Given the description of an element on the screen output the (x, y) to click on. 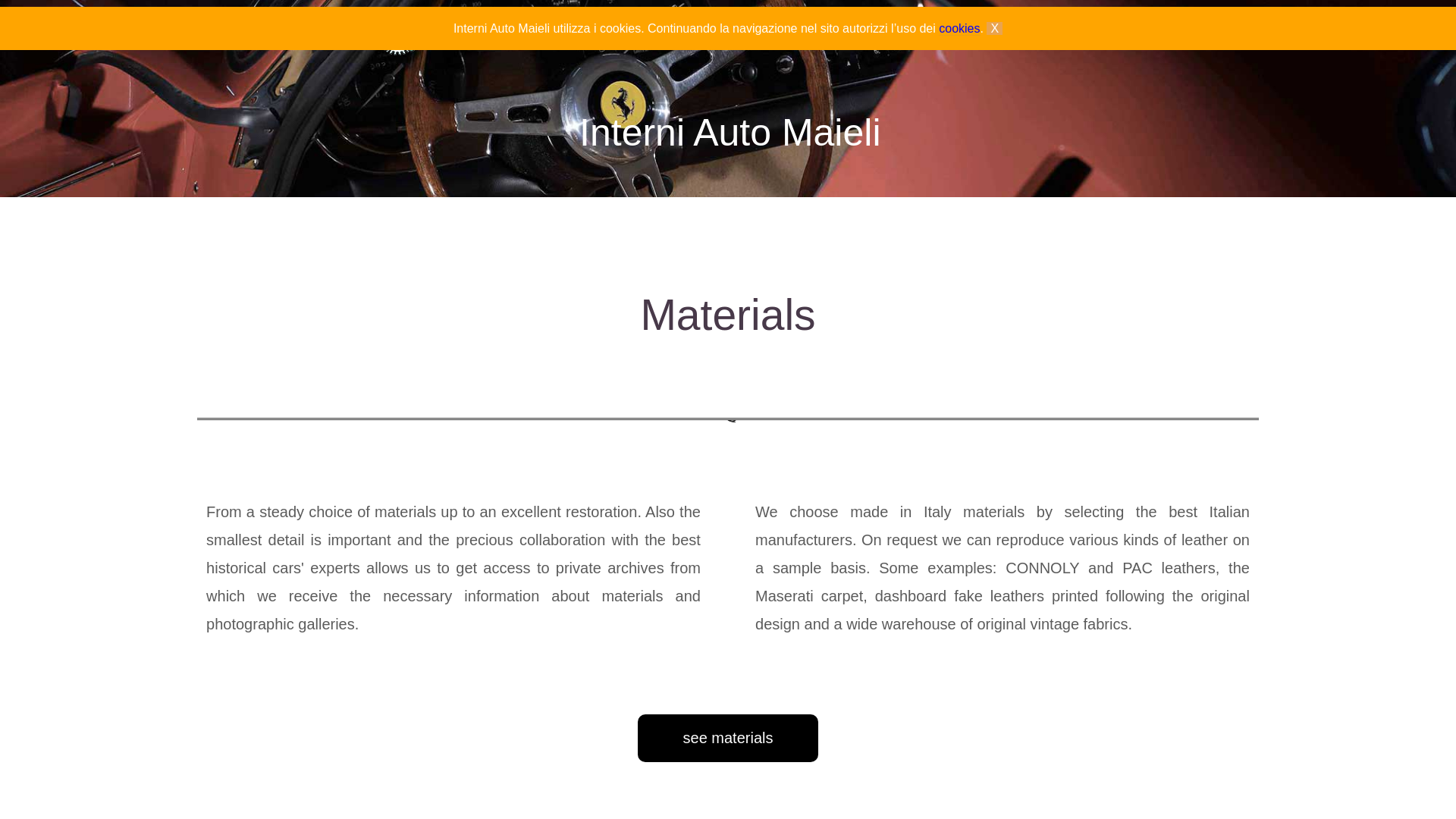
see materials (727, 738)
see materials (727, 738)
cookies (959, 29)
